Given the description of an element on the screen output the (x, y) to click on. 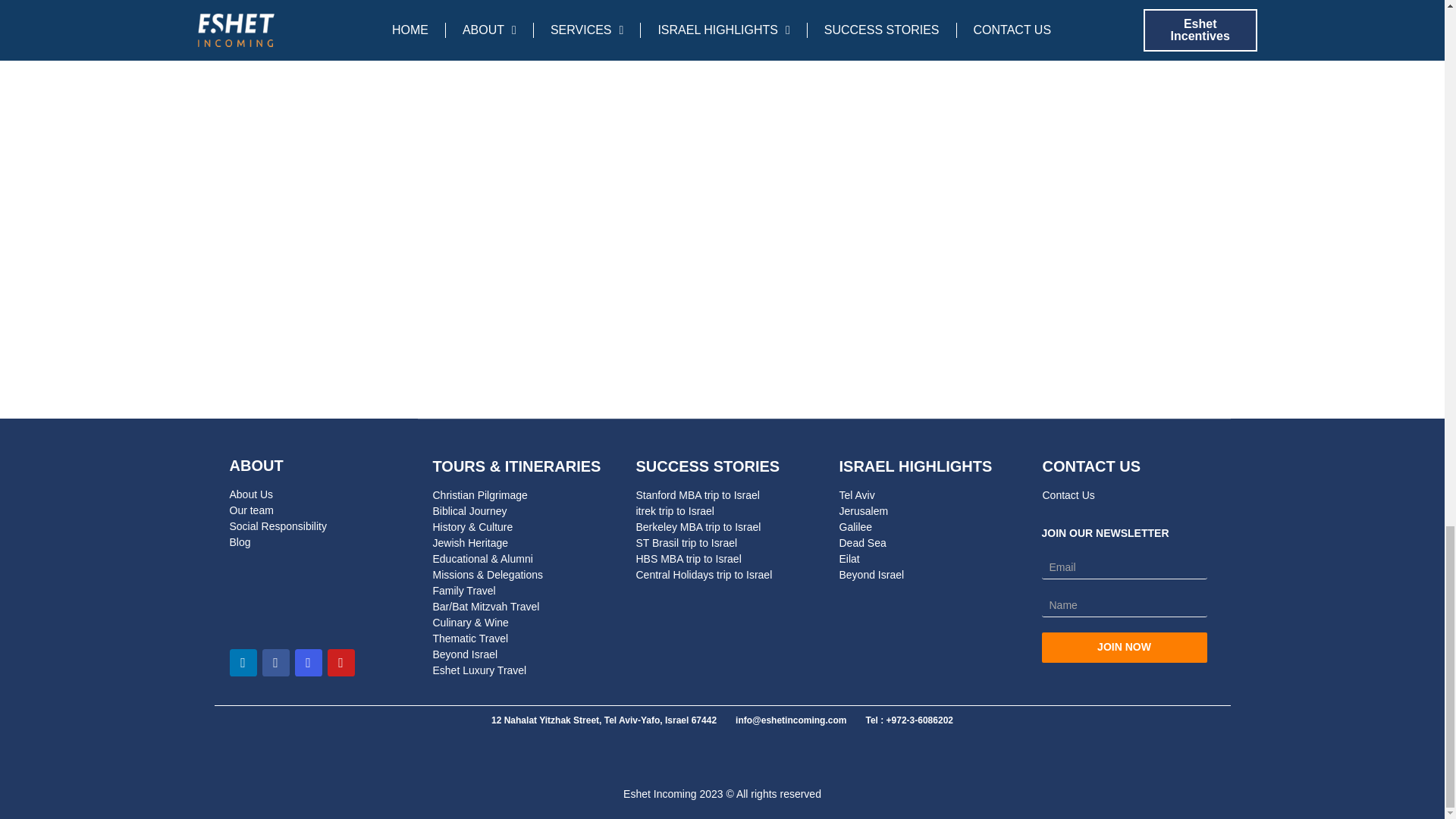
JOIN NOW (1124, 647)
